Given the description of an element on the screen output the (x, y) to click on. 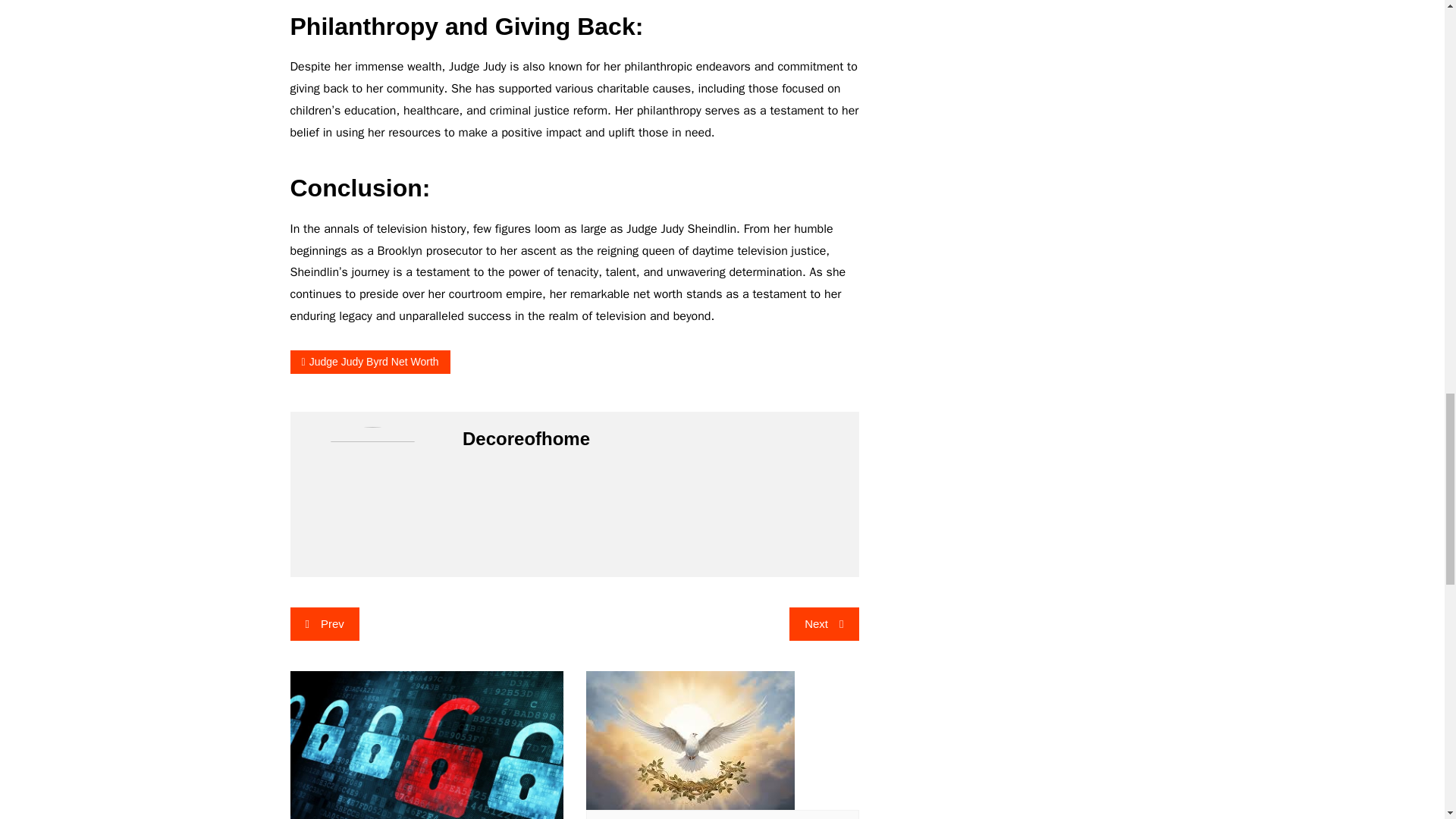
Next (824, 623)
Prev (323, 623)
Judge Judy Byrd Net Worth (369, 361)
